Given the description of an element on the screen output the (x, y) to click on. 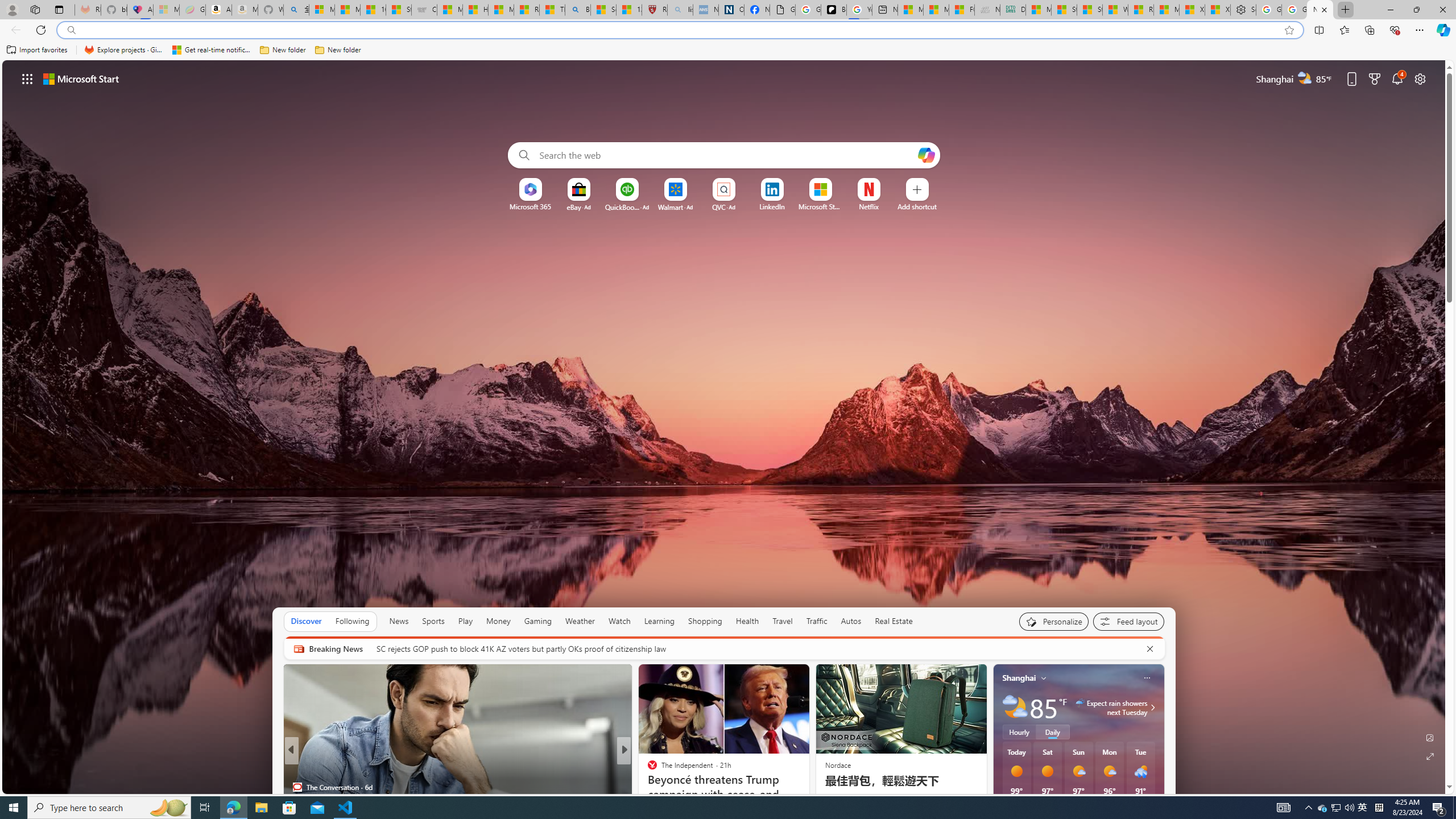
The Conversation (296, 786)
12 Popular Science Lies that Must be Corrected (628, 9)
Hollywood Reporter (647, 768)
Sunny (1047, 771)
MetroOpinion (663, 786)
Asthma Inhalers: Names and Types (140, 9)
